Given the description of an element on the screen output the (x, y) to click on. 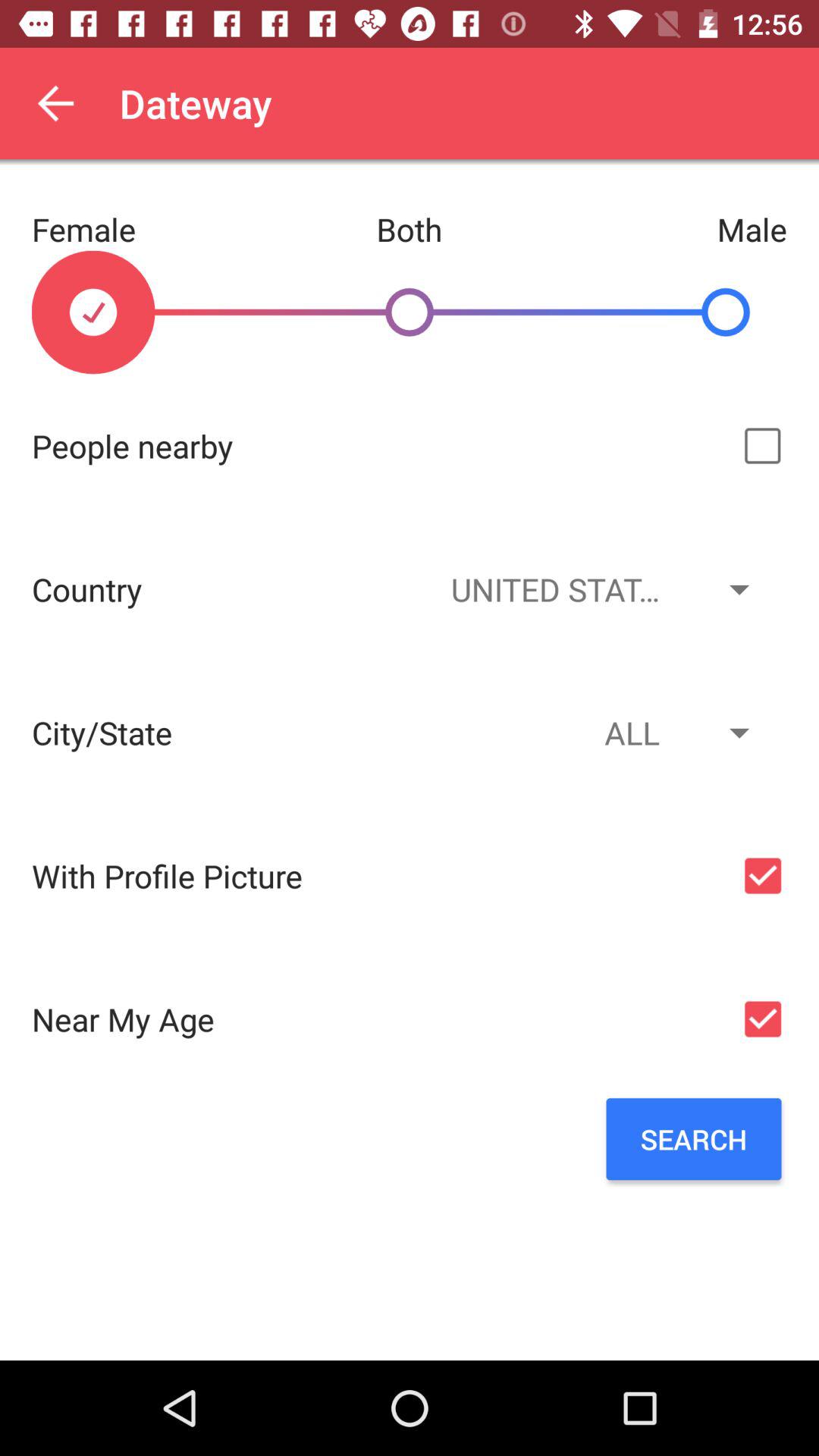
turn on the search (693, 1139)
